Given the description of an element on the screen output the (x, y) to click on. 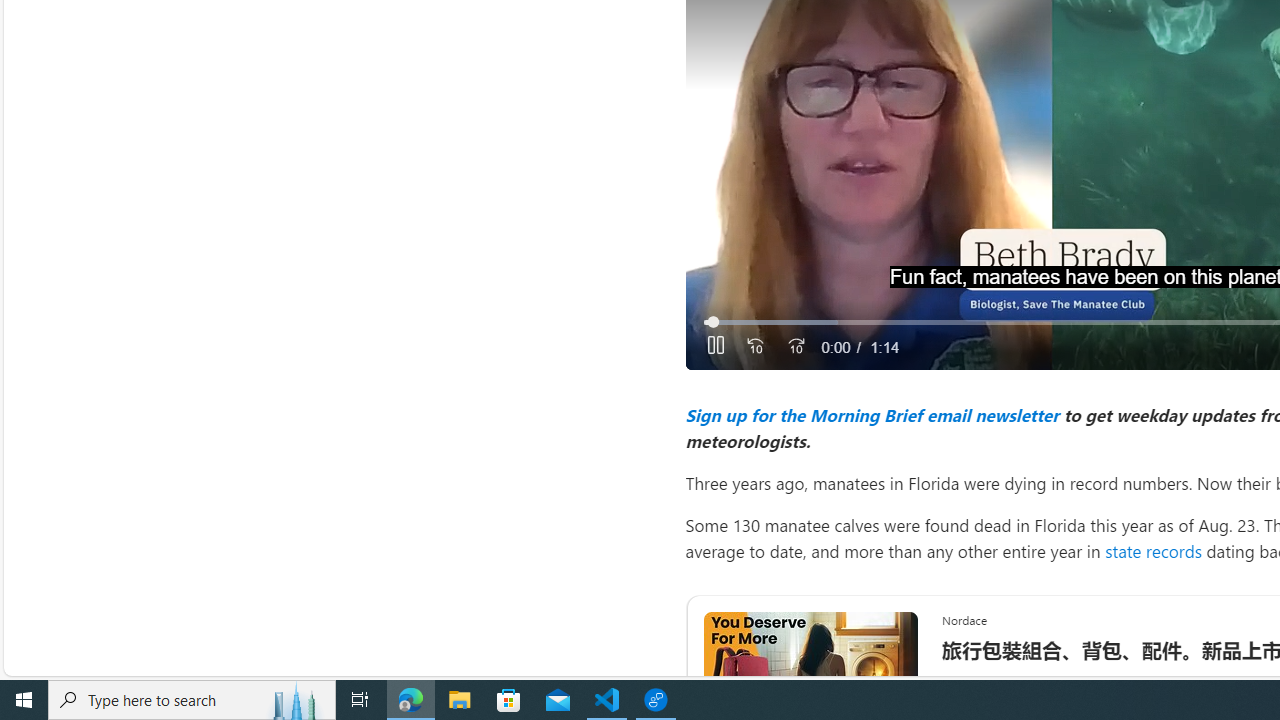
state records (1152, 550)
Sign up for the Morning Brief email newsletter (871, 414)
Pause (715, 347)
Seek Back (754, 347)
Seek Forward (795, 347)
